Given the description of an element on the screen output the (x, y) to click on. 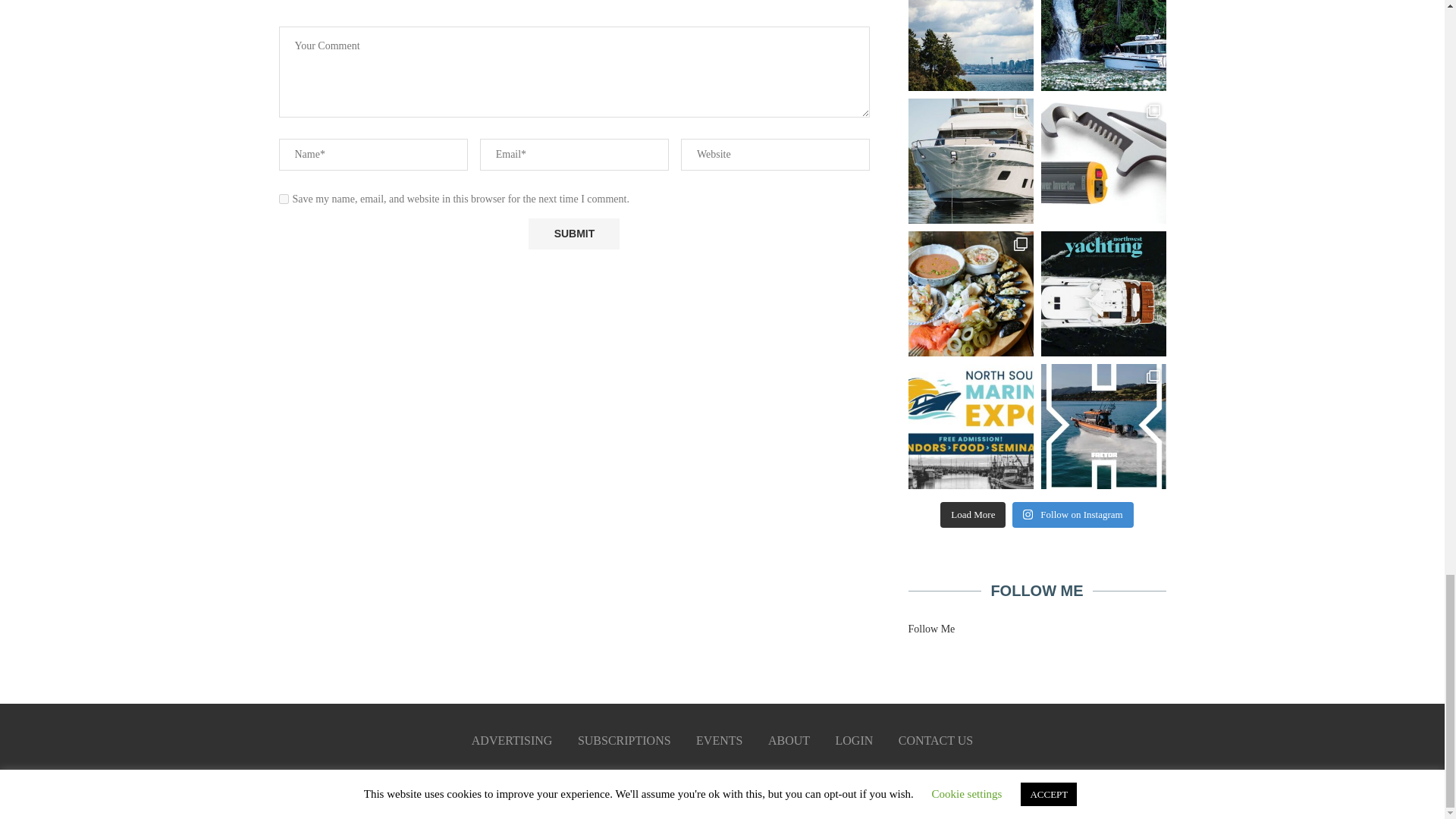
yes (283, 198)
Submit (574, 233)
